Given the description of an element on the screen output the (x, y) to click on. 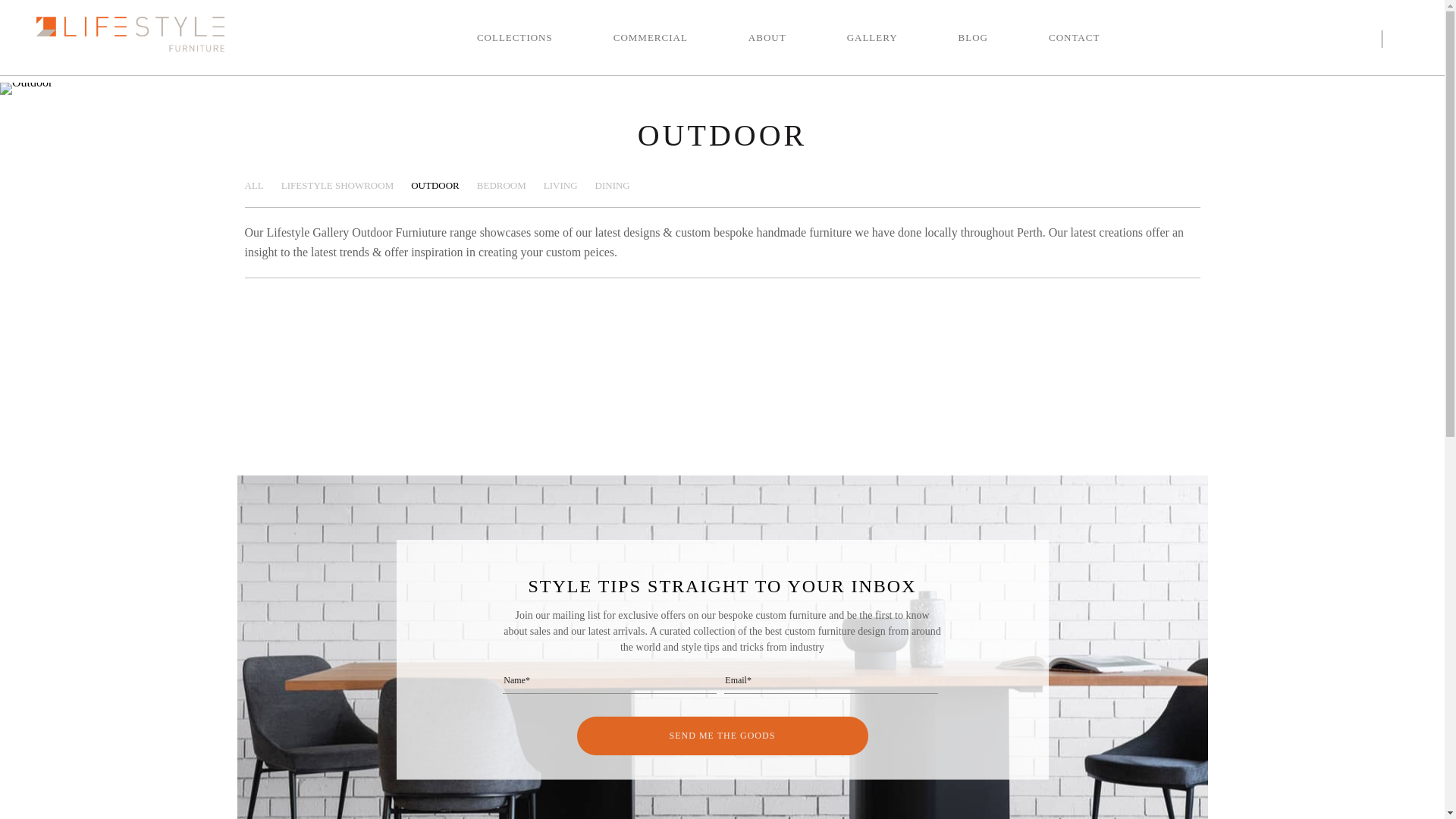
Send Me The Goods Element type: text (721, 735)
Lifestyle Furniture Element type: hover (130, 33)
OUTDOOR Element type: text (435, 185)
COLLECTIONS Element type: text (514, 37)
DINING Element type: text (612, 185)
GALLERY Element type: text (872, 37)
LIVING Element type: text (560, 185)
ABOUT Element type: text (767, 37)
BEDROOM Element type: text (501, 185)
CONTACT Element type: text (1073, 37)
Outdoor Element type: hover (26, 88)
BLOG Element type: text (973, 37)
LIFESTYLE SHOWROOM Element type: text (337, 185)
ALL Element type: text (253, 185)
COMMERCIAL Element type: text (650, 37)
Send Me The Goods Element type: text (721, 332)
